Given the description of an element on the screen output the (x, y) to click on. 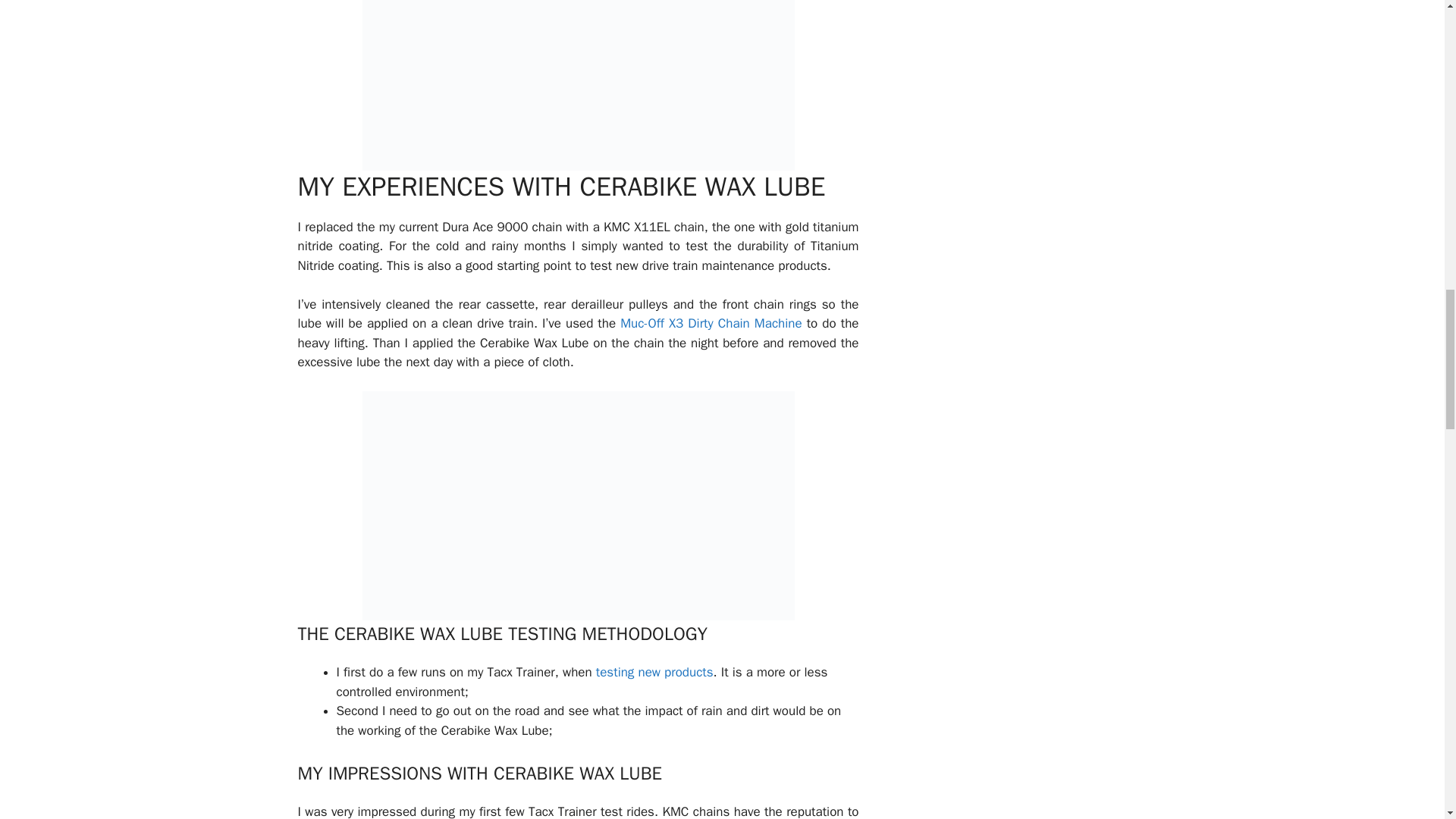
testing new products (654, 672)
Muc-Off X3 Dirty Chain Machine (711, 323)
